Given the description of an element on the screen output the (x, y) to click on. 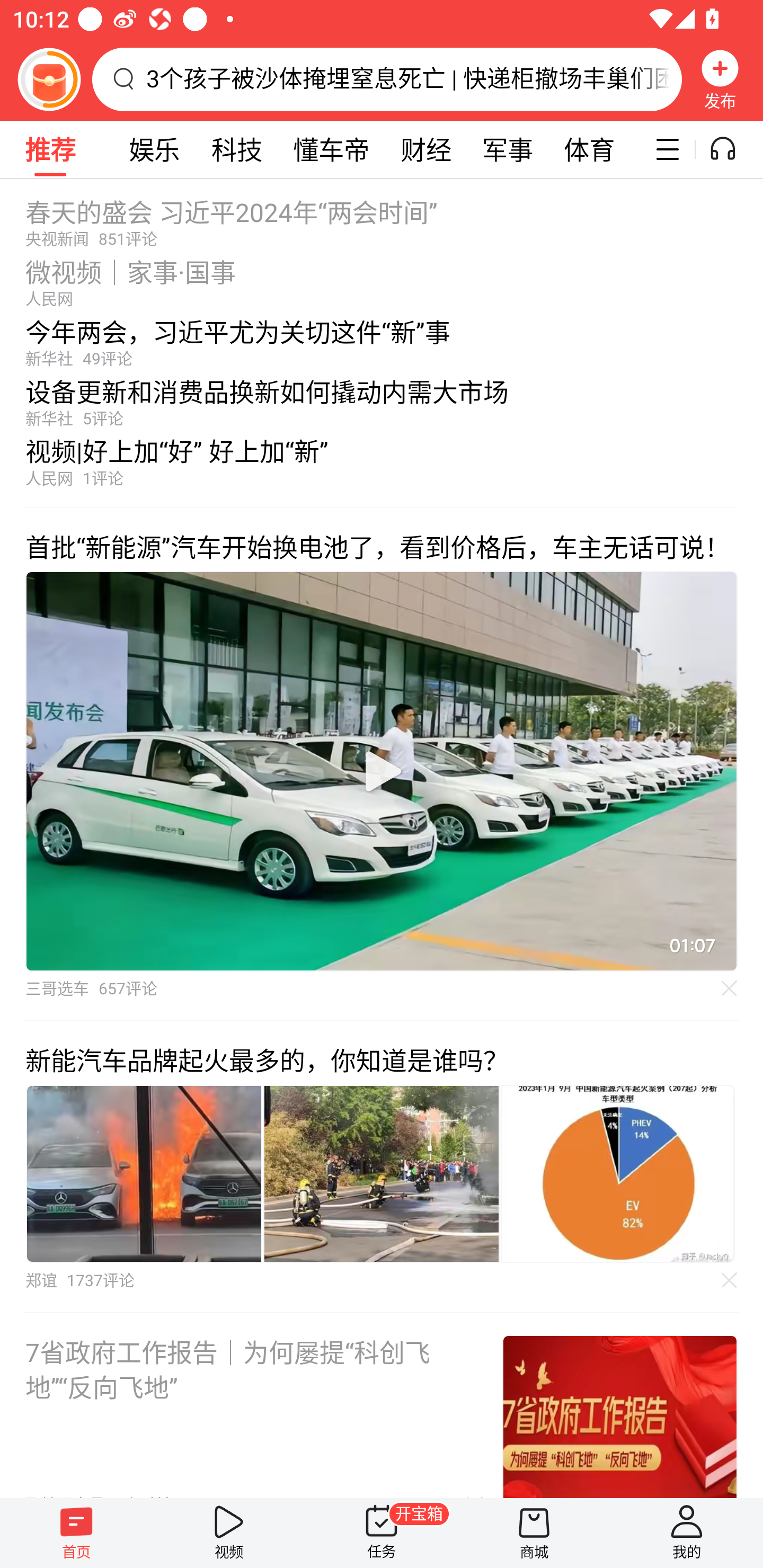
阅读赚金币 (48, 79)
发布 发布，按钮 (720, 78)
推荐 (49, 149)
娱乐 (154, 149)
科技 (236, 149)
懂车帝 (331, 149)
财经 (425, 149)
军事 (507, 149)
体育 (589, 149)
听一听开关 (732, 149)
微视频｜家事·国事人民网 视频 微视频｜家事·国事 人民网 (381, 277)
视频|好上加“好” 好上加“新”人民网1评论 文章 视频|好上加“好” 好上加“新” 人民网1评论 (381, 467)
播放视频 视频播放器，双击屏幕打开播放控制 (381, 771)
播放视频 (381, 771)
不感兴趣 (729, 987)
内容图片 (143, 1174)
内容图片 (381, 1174)
内容图片 (617, 1174)
不感兴趣 (729, 1279)
首页 (76, 1532)
视频 (228, 1532)
任务 开宝箱 (381, 1532)
商城 (533, 1532)
我的 (686, 1532)
